Given the description of an element on the screen output the (x, y) to click on. 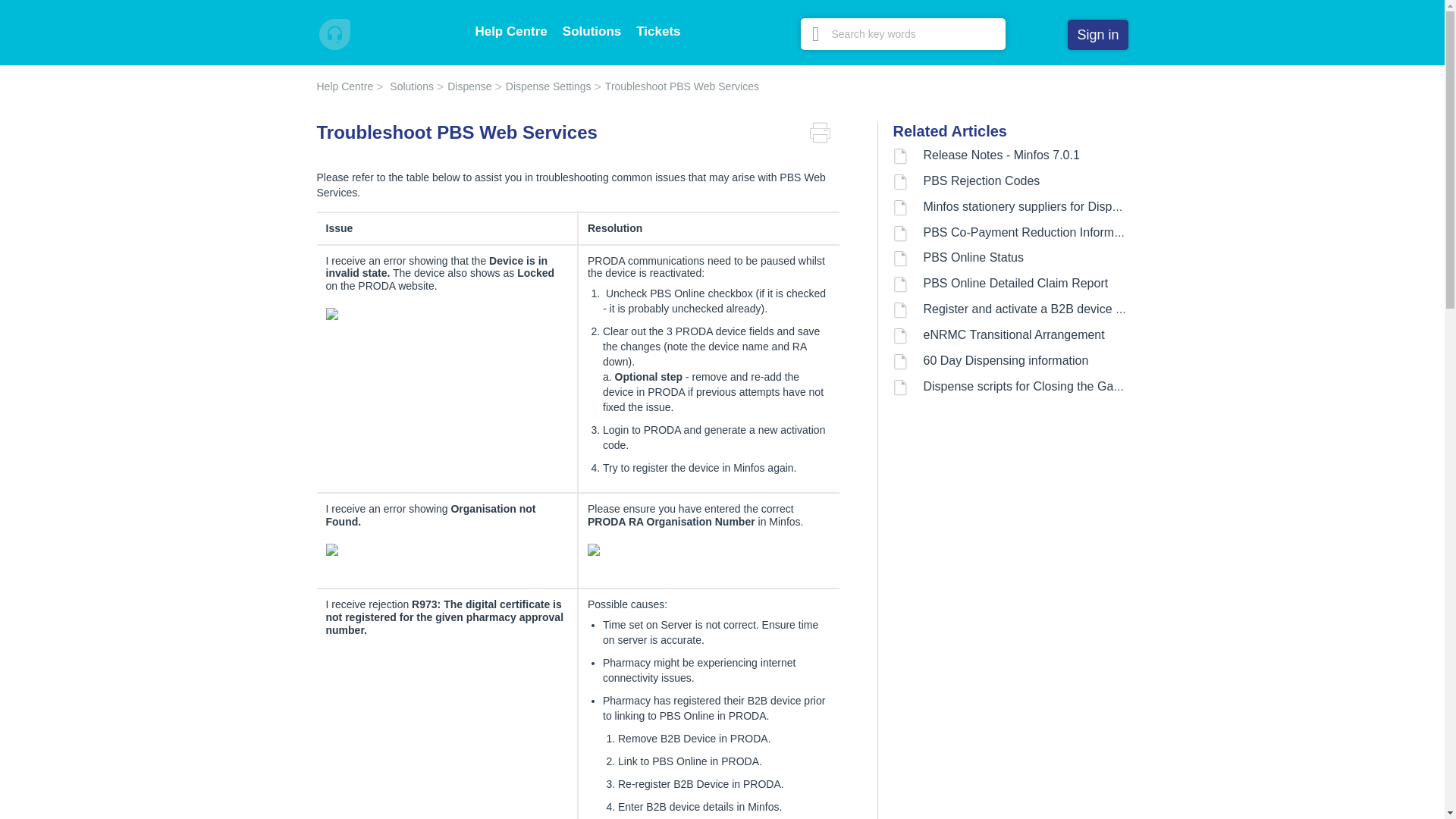
Help Centre (345, 86)
Sign in (1096, 34)
Dispense Settings (543, 86)
Tickets (657, 31)
Print (824, 133)
Solutions (591, 31)
Dispense (464, 86)
Solutions (405, 86)
Print this Article (824, 133)
Troubleshoot PBS Web Services (676, 86)
Help Centre (510, 31)
